Given the description of an element on the screen output the (x, y) to click on. 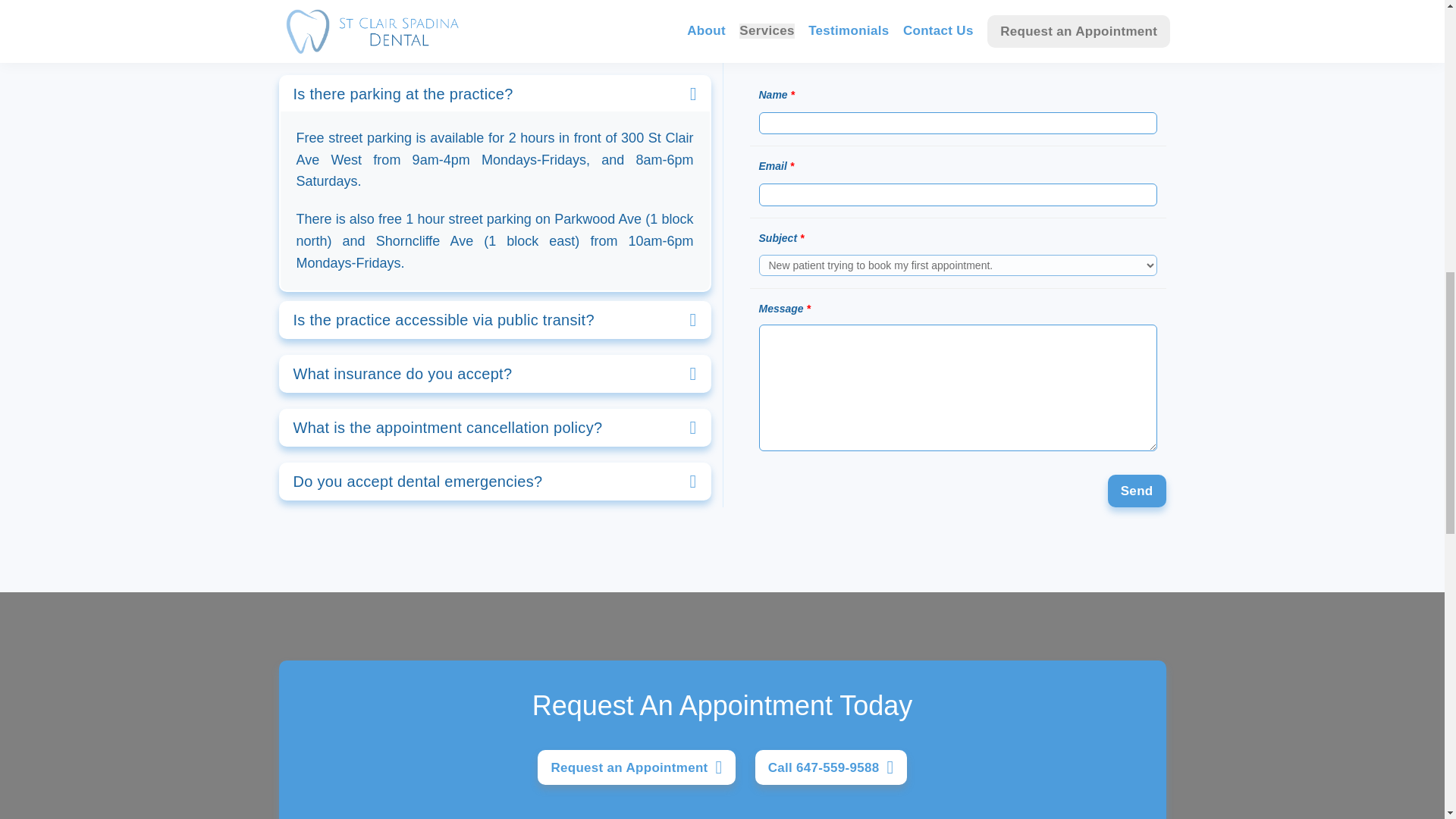
Send (1137, 490)
